Given the description of an element on the screen output the (x, y) to click on. 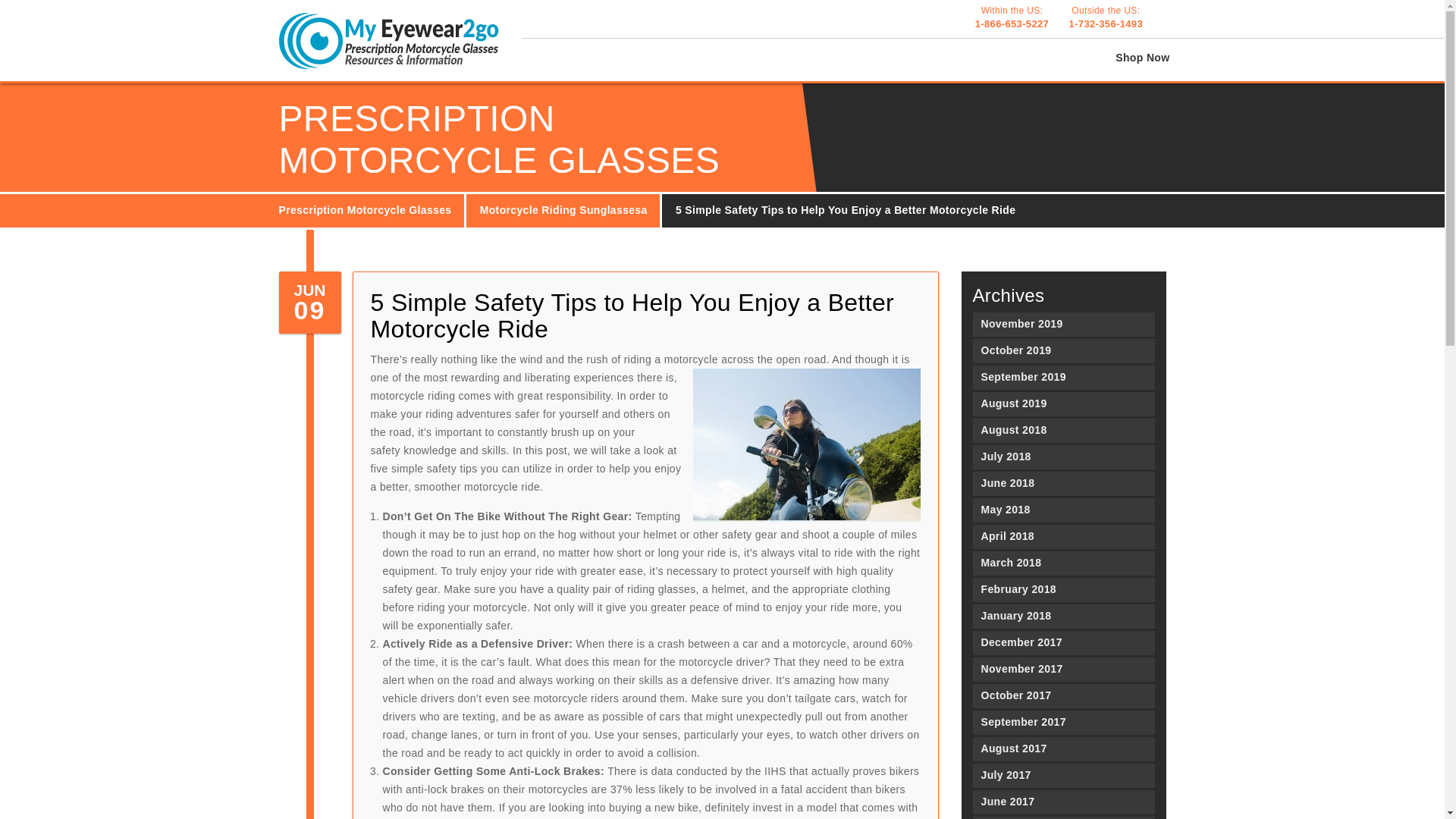
June 2017 (1063, 802)
May 2017 (1063, 817)
May 2018 (1063, 509)
July 2018 (1063, 457)
February 2018 (1063, 589)
August 2017 (1063, 749)
October 2017 (1011, 16)
July 2017 (1063, 695)
September 2019 (1063, 775)
January 2018 (1063, 377)
August 2018 (1063, 616)
October 2019 (1063, 430)
Shop Now (1063, 351)
November 2017 (1142, 57)
